Given the description of an element on the screen output the (x, y) to click on. 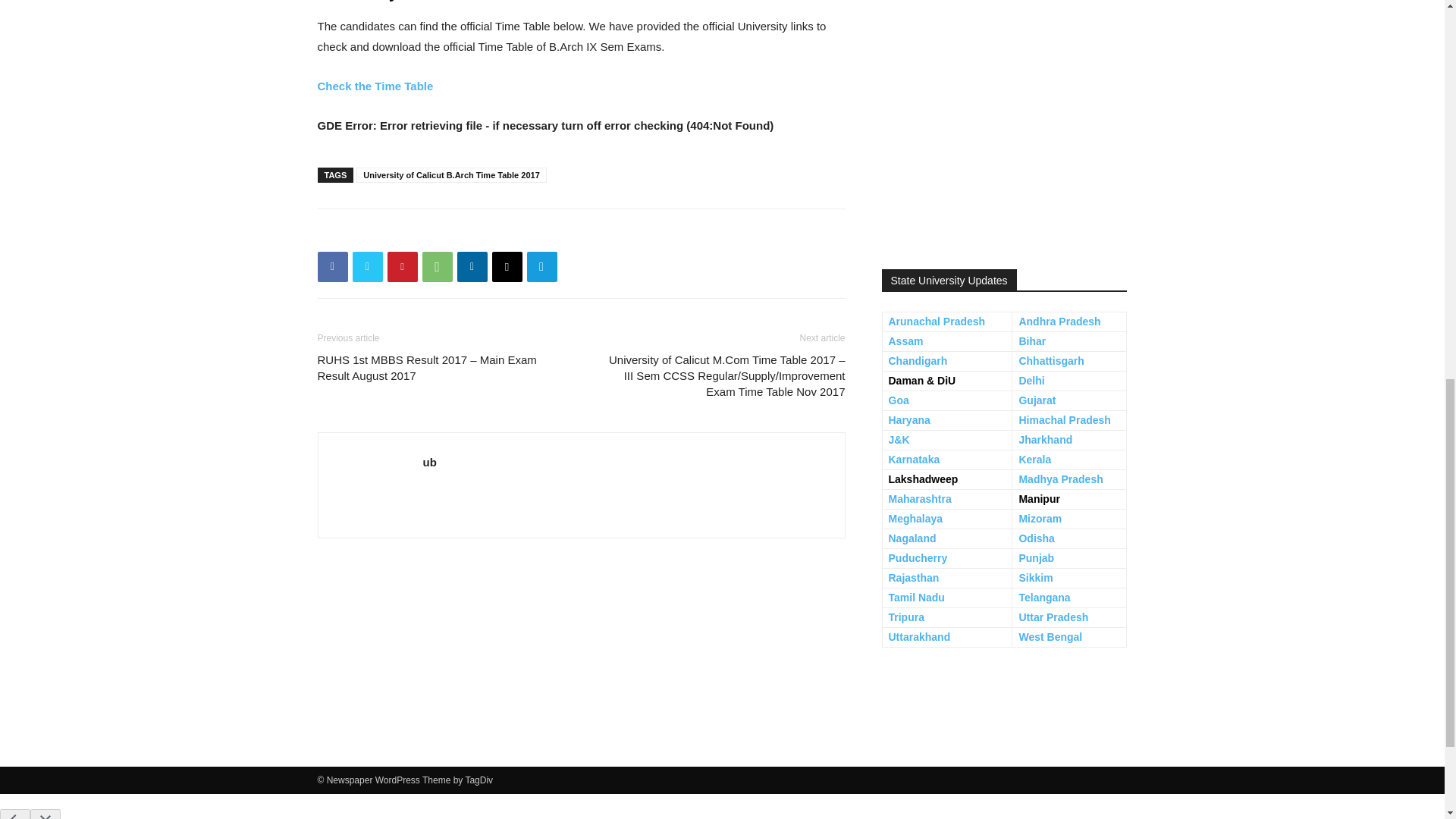
Pinterest (401, 266)
WhatsApp (436, 266)
Facebook (332, 266)
Twitter (366, 266)
Check the Time Table (374, 85)
Linkedin (471, 266)
University of Calicut B.Arch Time Table 2017 (451, 174)
Email (506, 266)
bottomFacebookLike (430, 232)
